Given the description of an element on the screen output the (x, y) to click on. 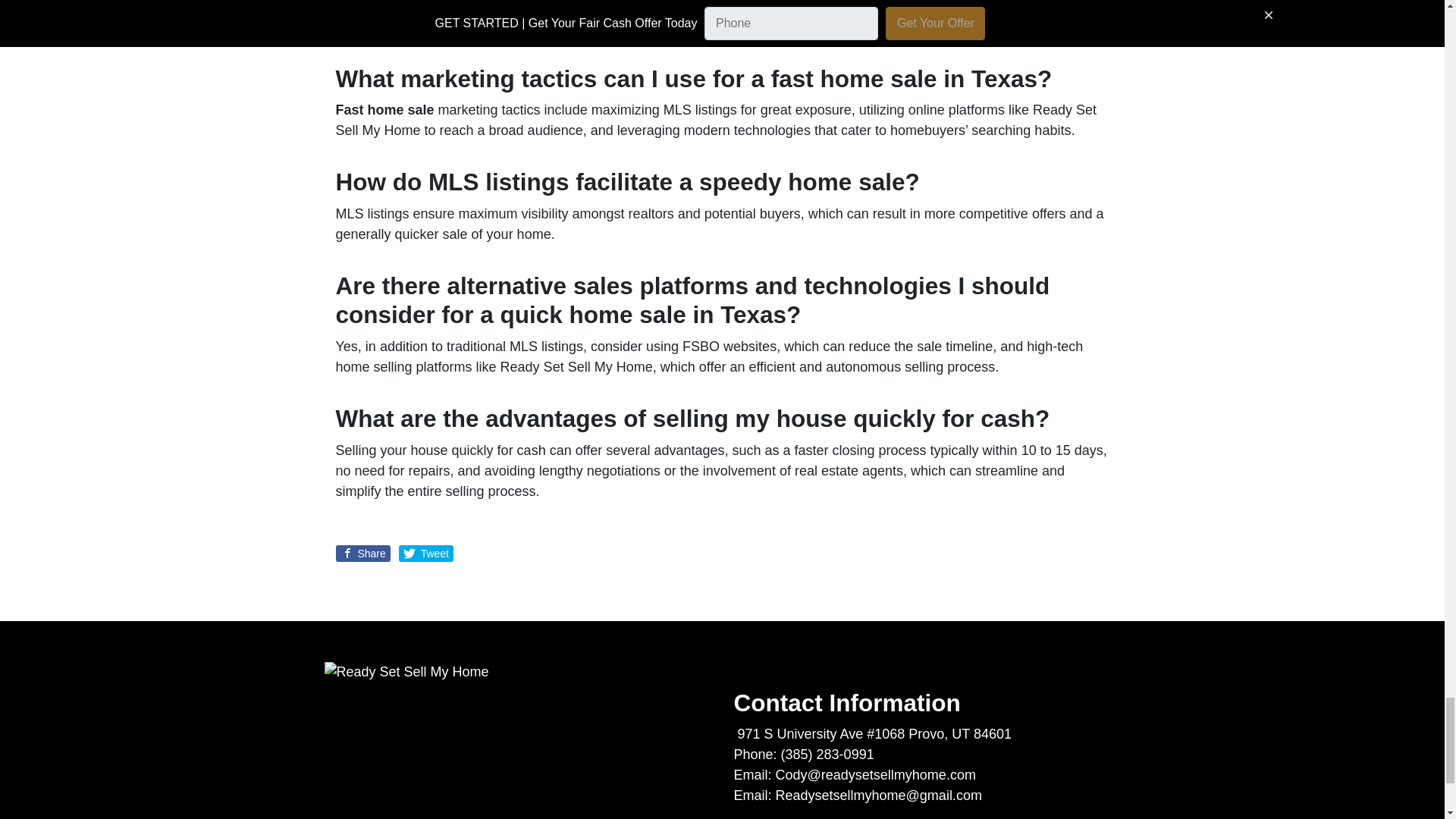
Share on Twitter (425, 553)
Tweet (425, 553)
Share on Facebook (362, 553)
Share (362, 553)
